Given the description of an element on the screen output the (x, y) to click on. 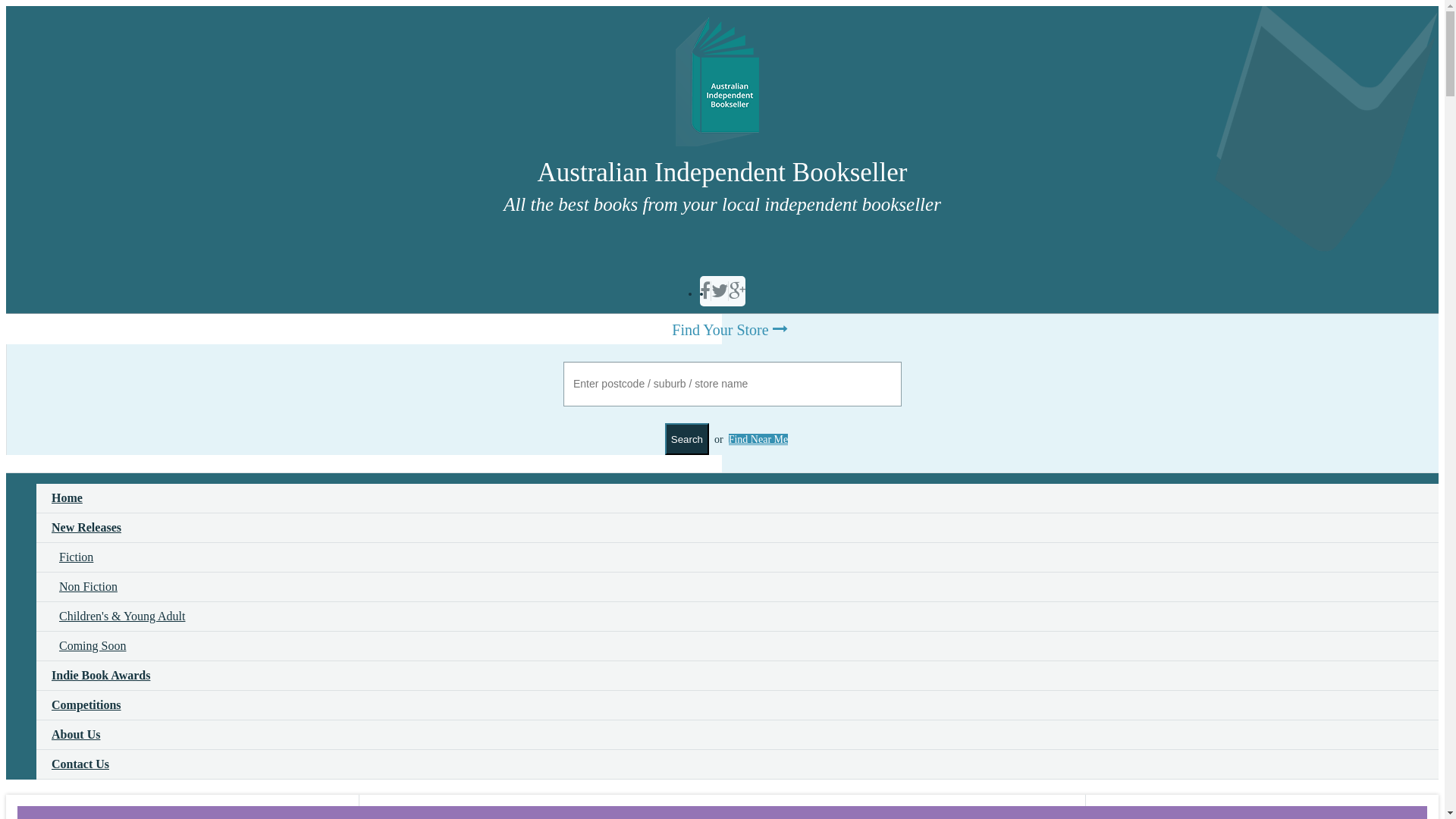
Home Element type: text (737, 498)
Competitions Element type: text (737, 704)
Contact Us Element type: text (737, 763)
New Releases Element type: text (737, 527)
Indie Book Awards Element type: text (737, 675)
Fiction Element type: text (737, 557)
Search Element type: text (687, 439)
About Us Element type: text (737, 734)
Find Near Me Element type: text (758, 439)
Non Fiction Element type: text (737, 586)
Children's & Young Adult Element type: text (737, 616)
Coming Soon Element type: text (737, 645)
